Given the description of an element on the screen output the (x, y) to click on. 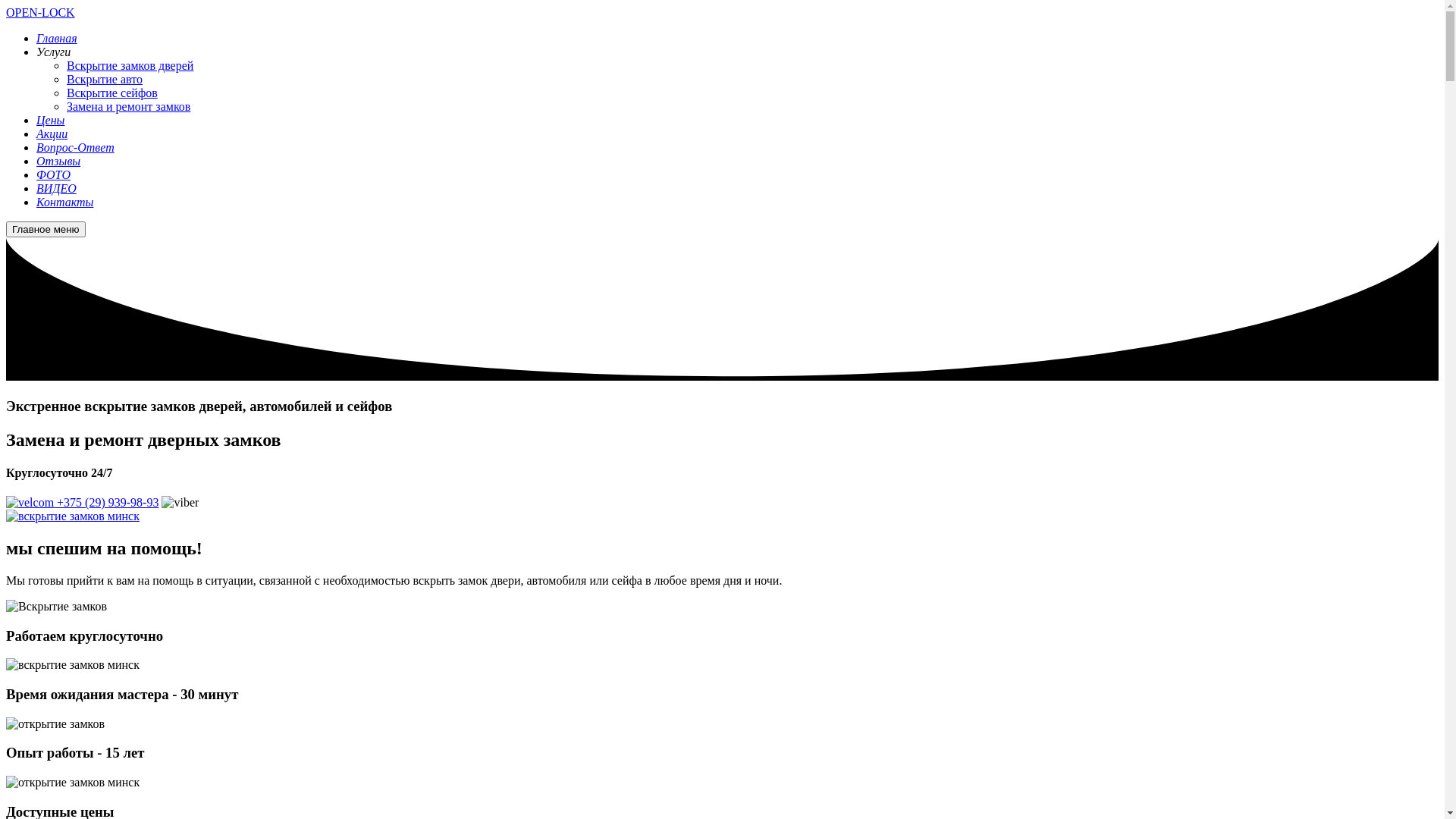
OPEN-LOCK Element type: text (40, 12)
+375 (29) 939-98-93 Element type: text (82, 501)
